Given the description of an element on the screen output the (x, y) to click on. 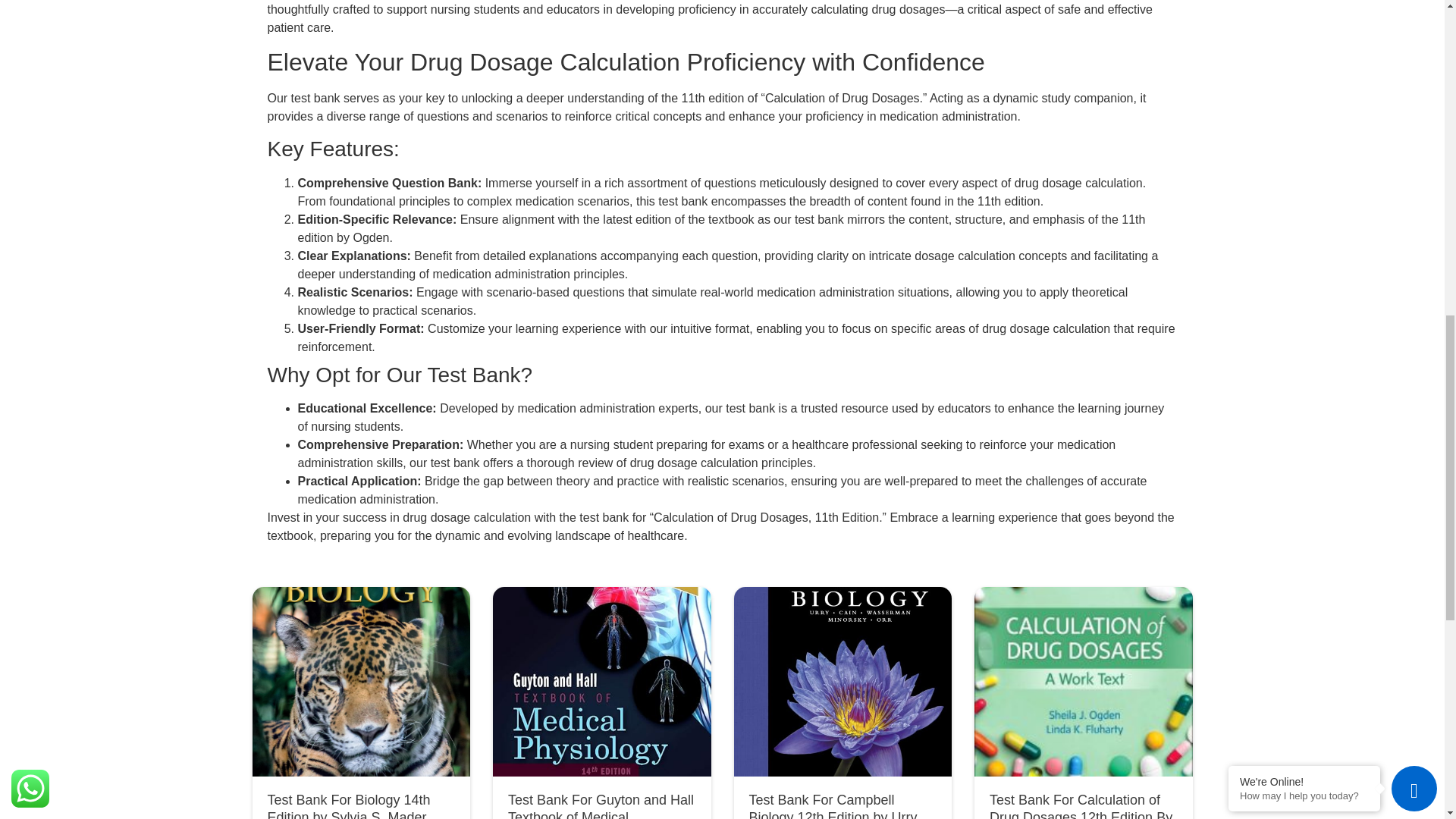
Test Bank For Biology 14th Edition by Sylvia S. Mader (347, 805)
Test Bank For Campbell Biology 12th Edition by Urry (833, 805)
